Given the description of an element on the screen output the (x, y) to click on. 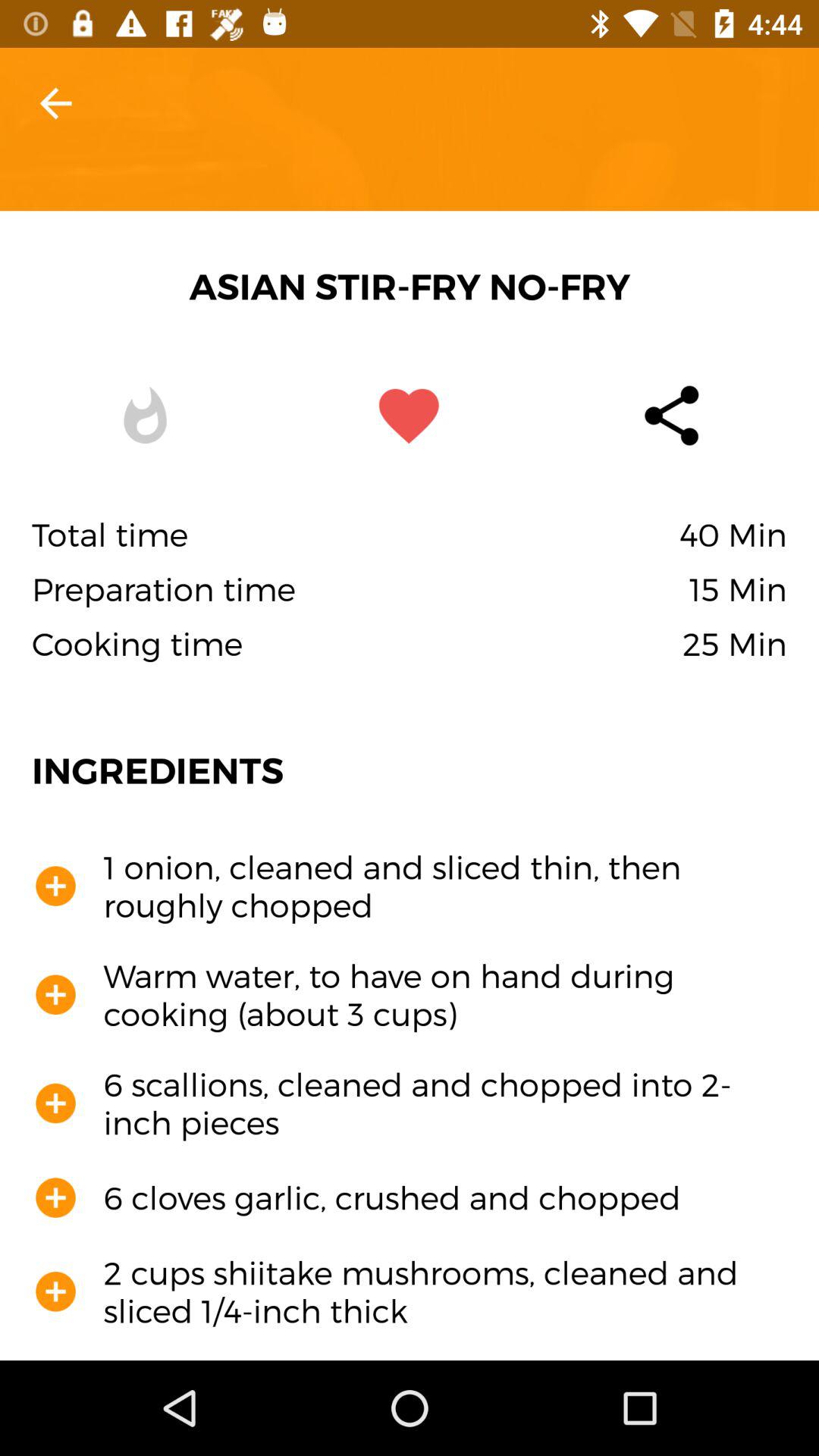
select the icon which is to the left of the favorite icon (146, 415)
click the third add icon (55, 1103)
click on the first add icon (55, 886)
select the favorite icon (409, 415)
select the fourth add icon below the ingredients (55, 1198)
